Given the description of an element on the screen output the (x, y) to click on. 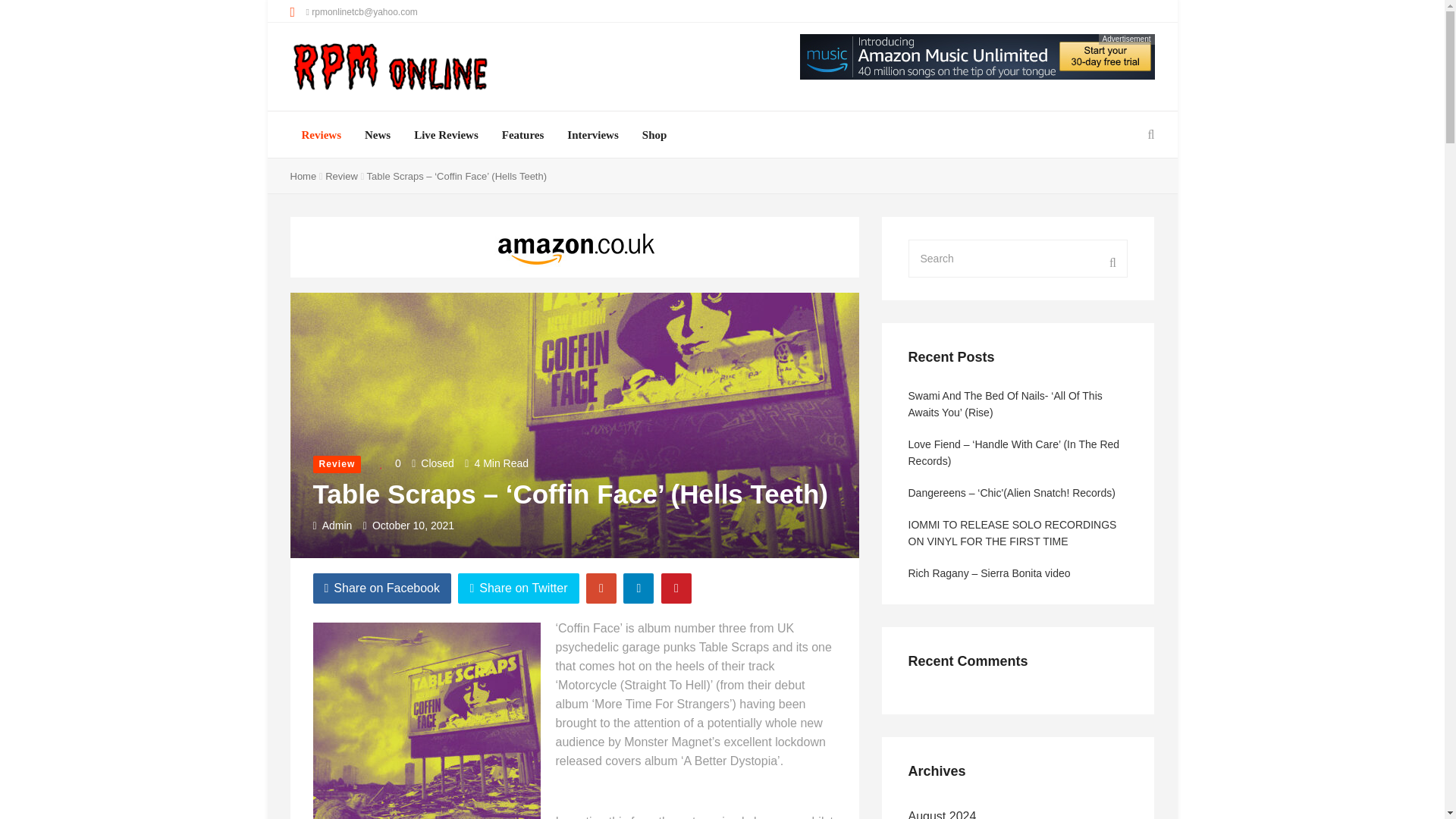
Share on Linkedin! (638, 588)
Share on Twitter! (518, 588)
Like this (386, 463)
Share on Pinterest! (676, 588)
Interviews (592, 135)
Features (523, 135)
Share on Facebook! (382, 588)
Live Reviews (446, 135)
RPM Online (389, 68)
Live Reviews (446, 135)
